Given the description of an element on the screen output the (x, y) to click on. 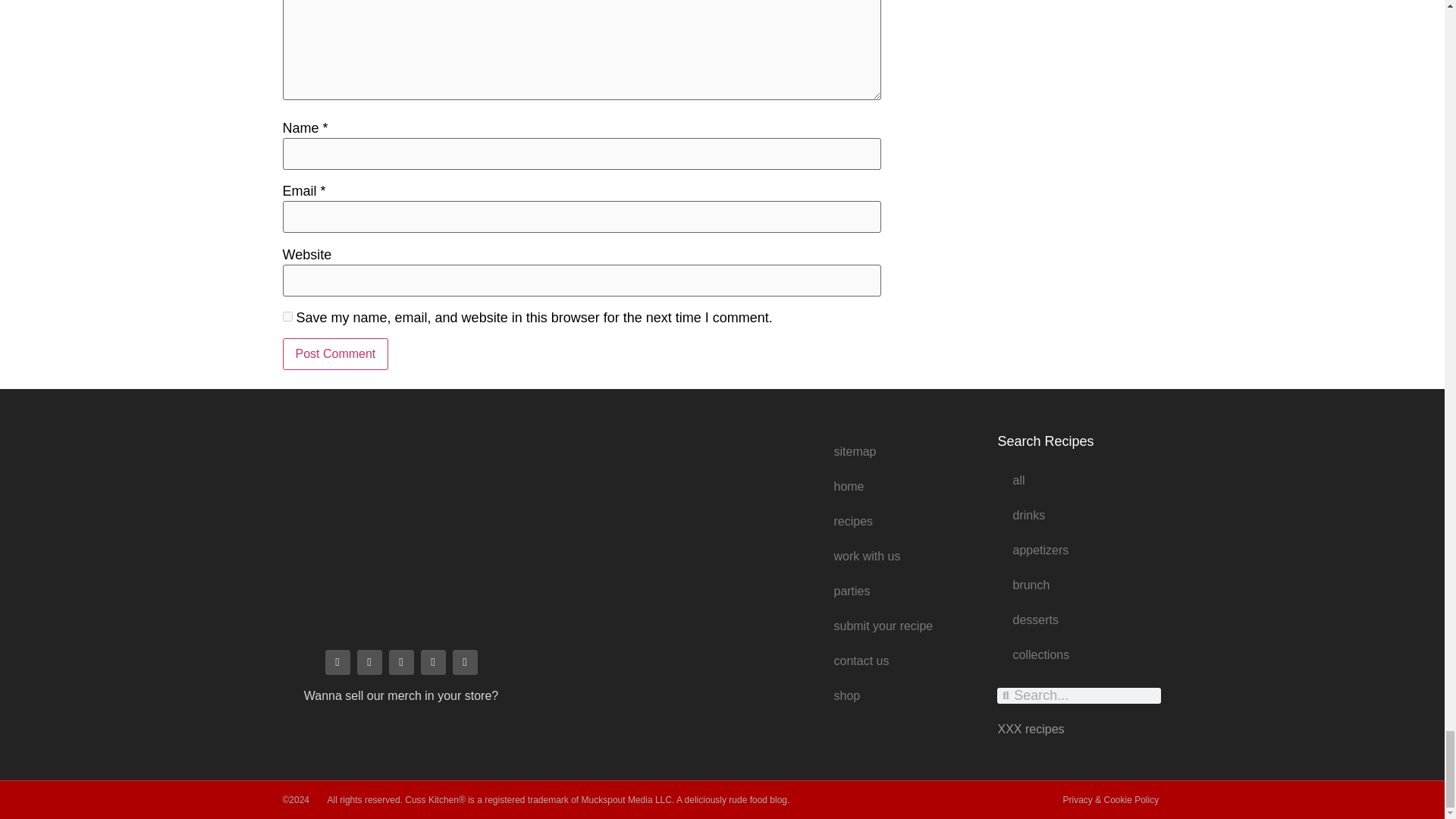
Post Comment (335, 354)
yes (287, 316)
